Given the description of an element on the screen output the (x, y) to click on. 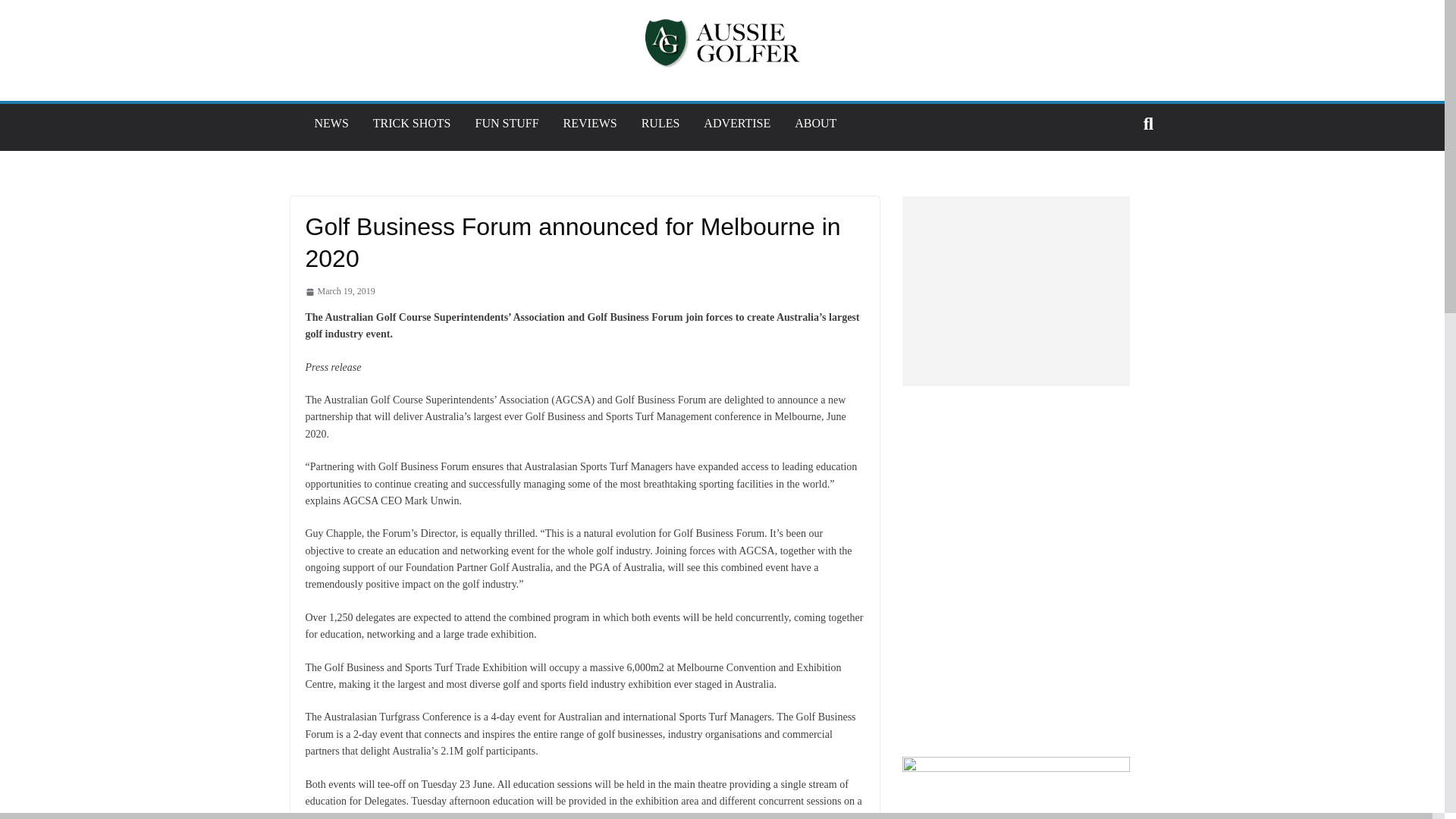
ABOUT (814, 123)
ADVERTISE (736, 123)
REVIEWS (590, 123)
RULES (660, 123)
FUN STUFF (507, 123)
March 19, 2019 (339, 291)
NEWS (330, 123)
TRICK SHOTS (411, 123)
14:10 (339, 291)
